Given the description of an element on the screen output the (x, y) to click on. 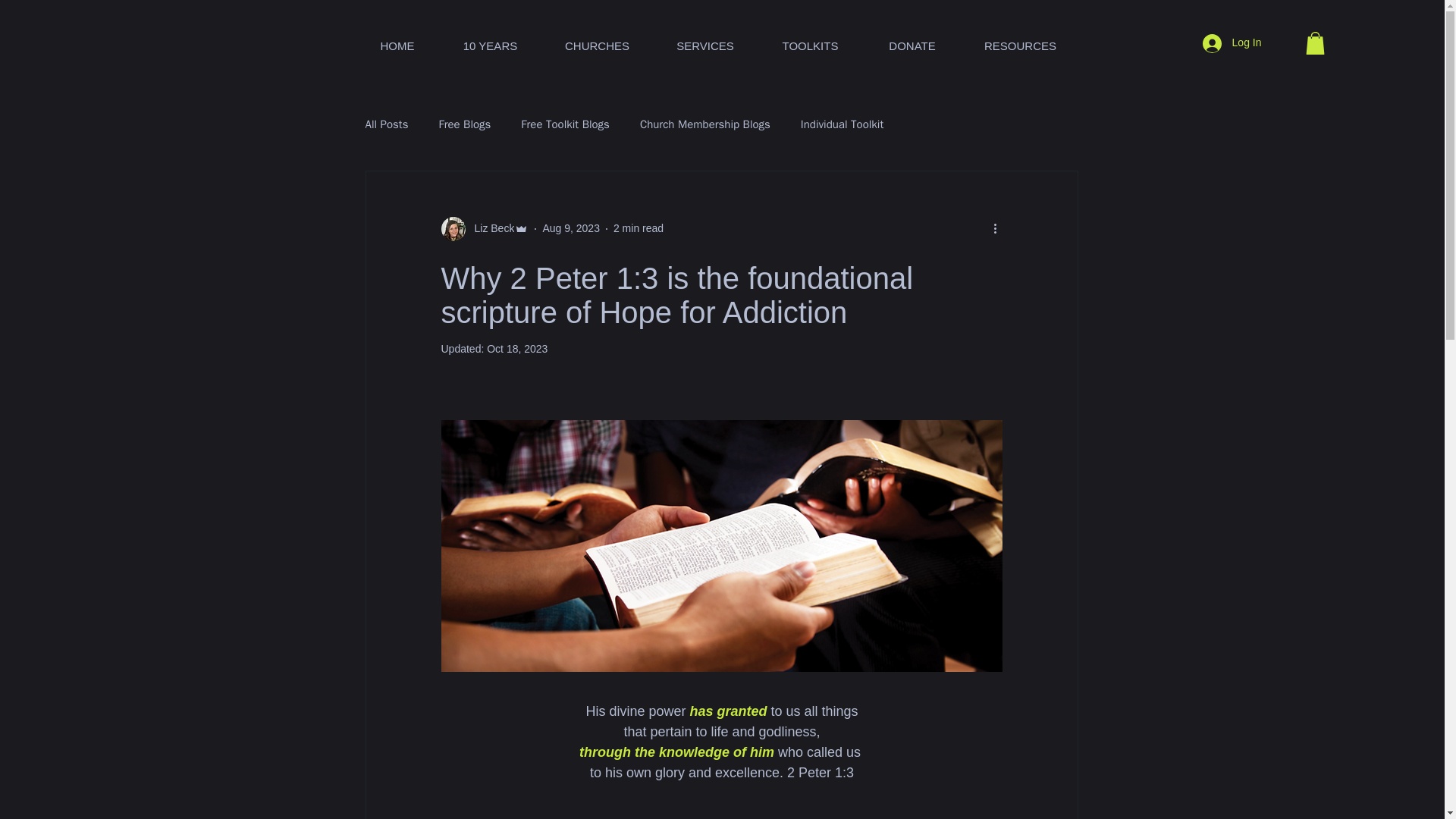
Free Toolkit Blogs (565, 124)
Oct 18, 2023 (516, 348)
Individual Toolkit (841, 124)
10 YEARS (490, 39)
2 min read (637, 227)
Liz Beck (485, 228)
Aug 9, 2023 (570, 227)
Free Blogs (464, 124)
Liz Beck (490, 228)
Log In (1232, 42)
Church Membership Blogs (705, 124)
HOME (397, 39)
All Posts (387, 124)
